Given the description of an element on the screen output the (x, y) to click on. 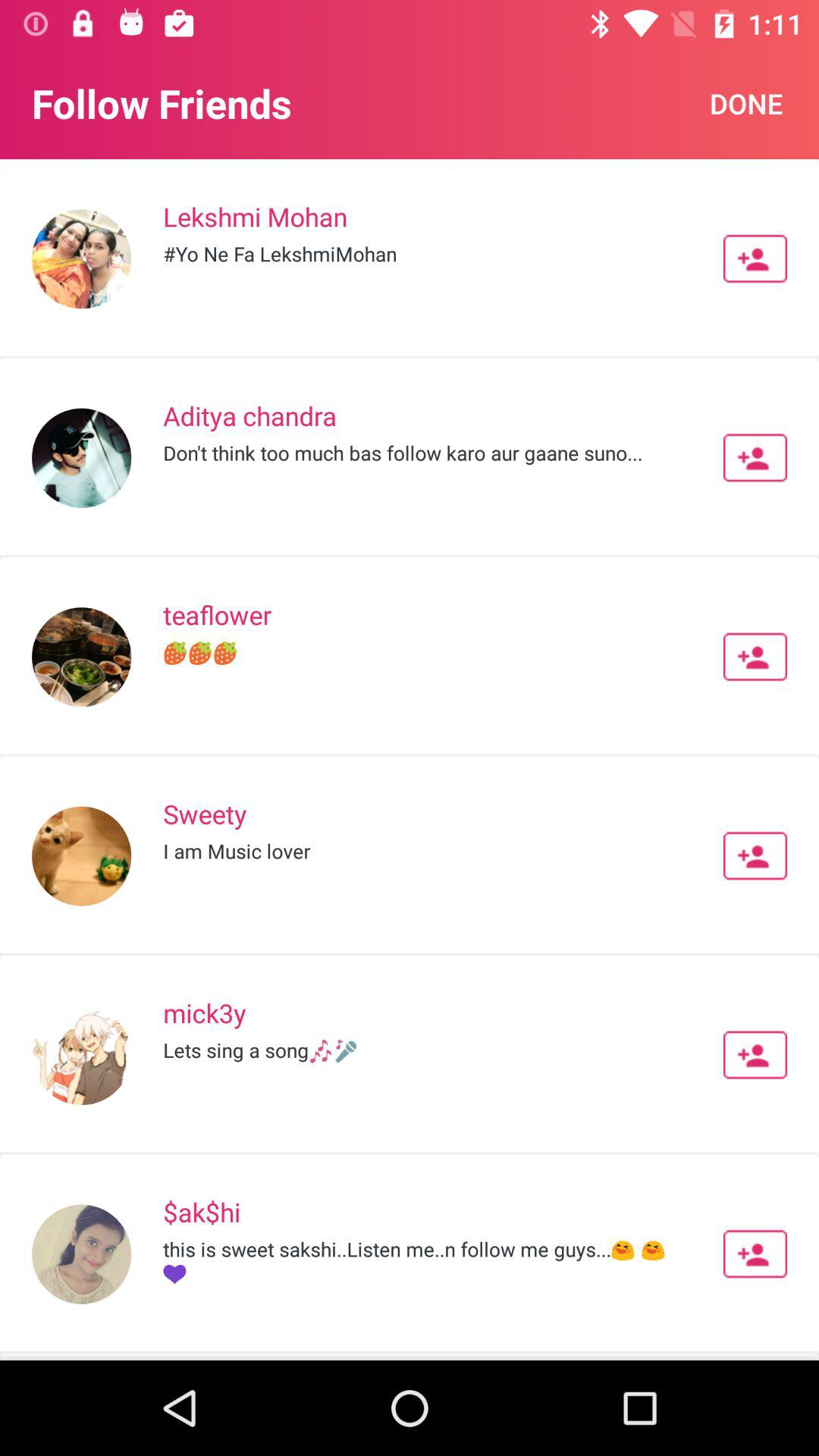
swipe until done item (746, 103)
